Given the description of an element on the screen output the (x, y) to click on. 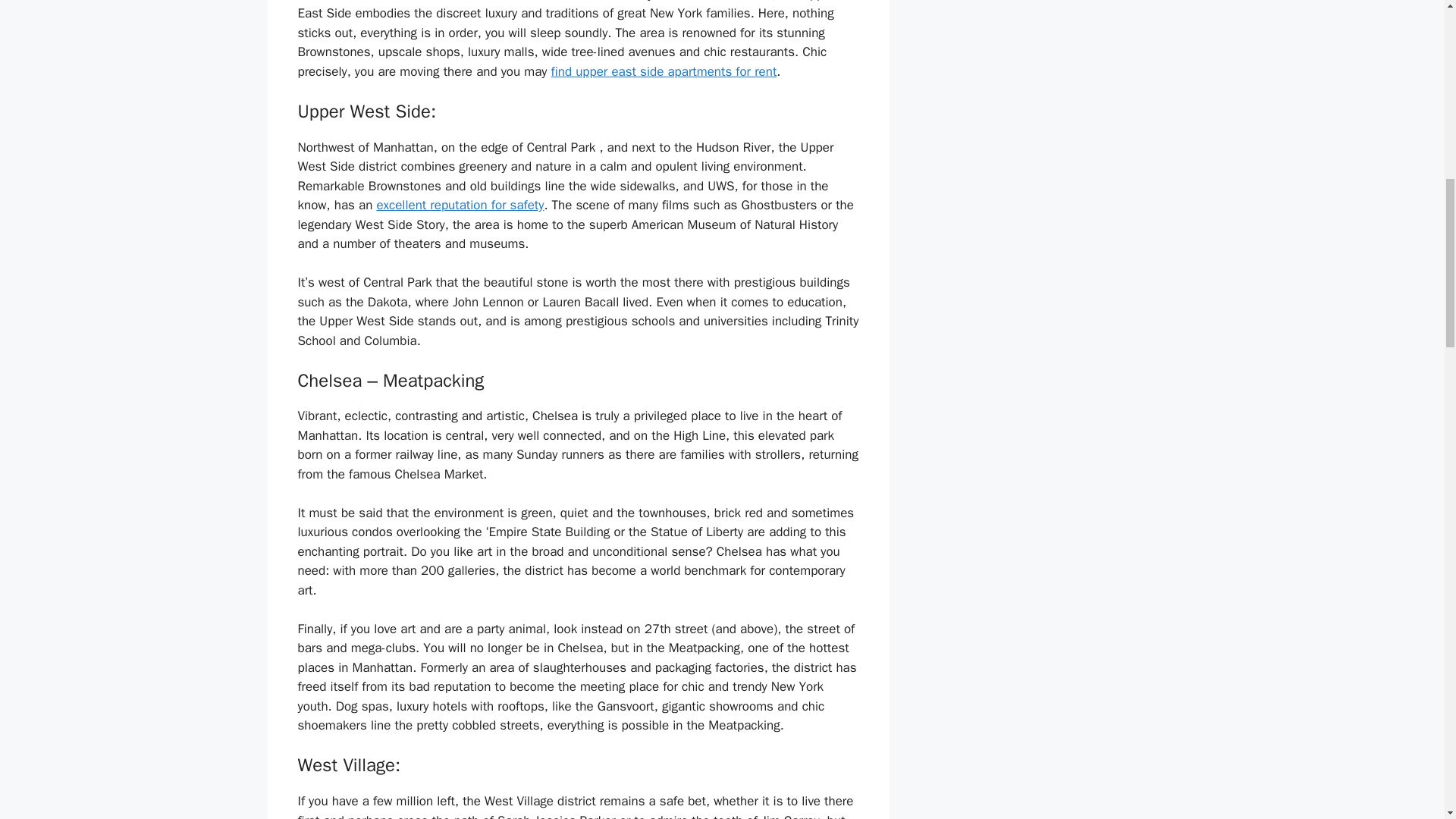
excellent reputation for safety (459, 204)
Scroll back to top (1406, 720)
find upper east side apartments for rent (664, 71)
